Given the description of an element on the screen output the (x, y) to click on. 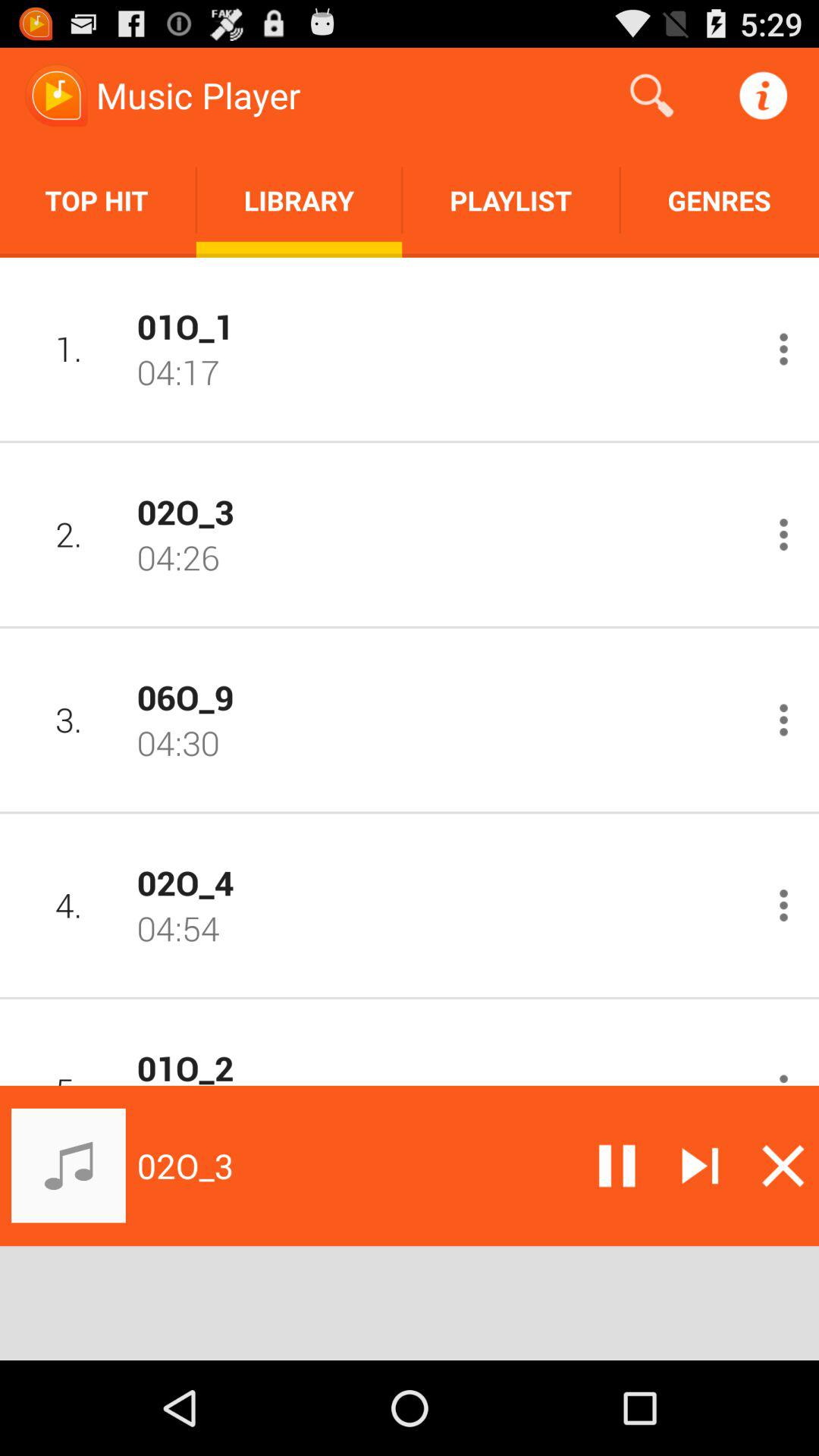
turn on the icon above 01o_1 app (510, 200)
